Given the description of an element on the screen output the (x, y) to click on. 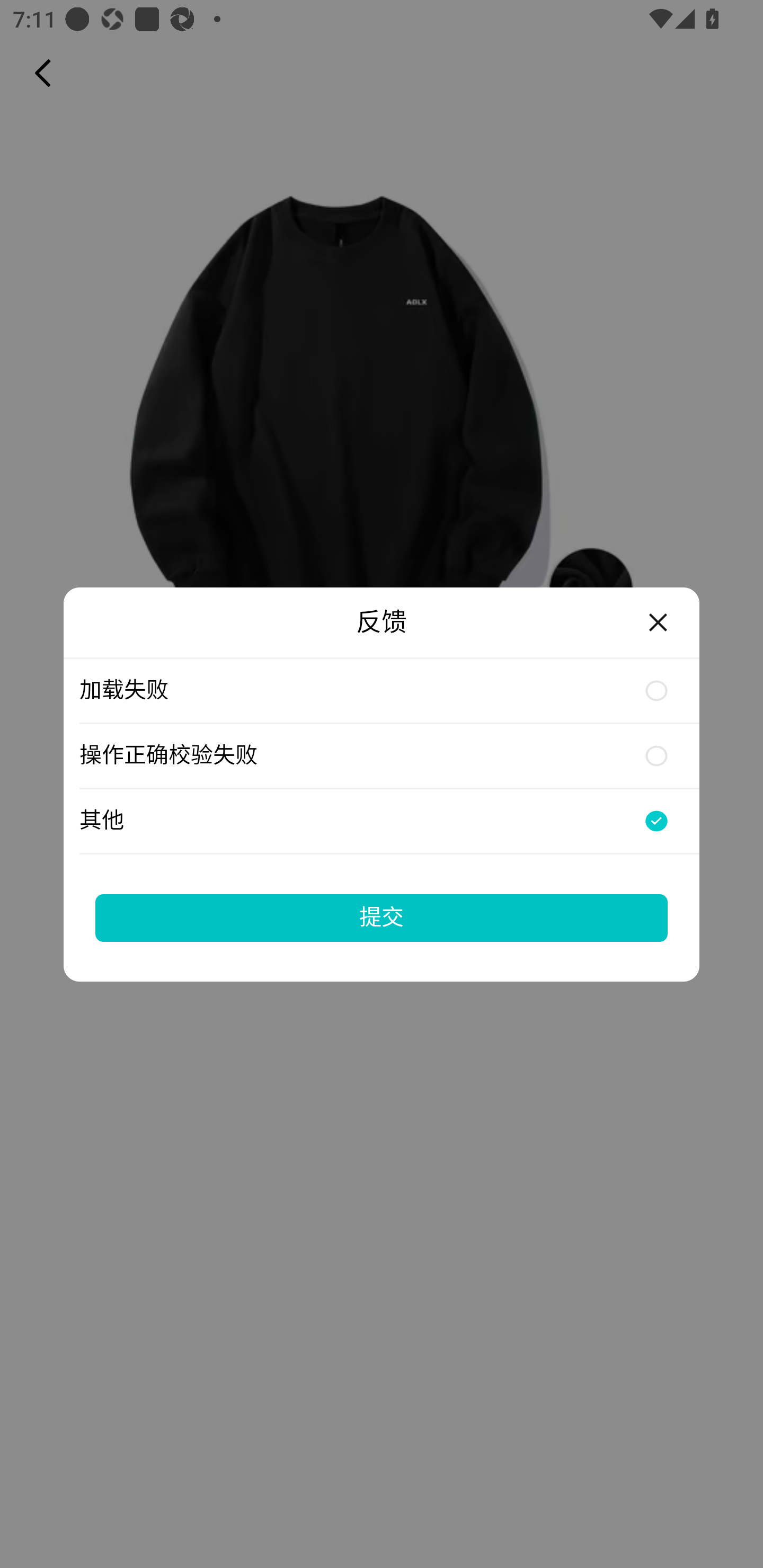
提交 (381, 917)
